Given the description of an element on the screen output the (x, y) to click on. 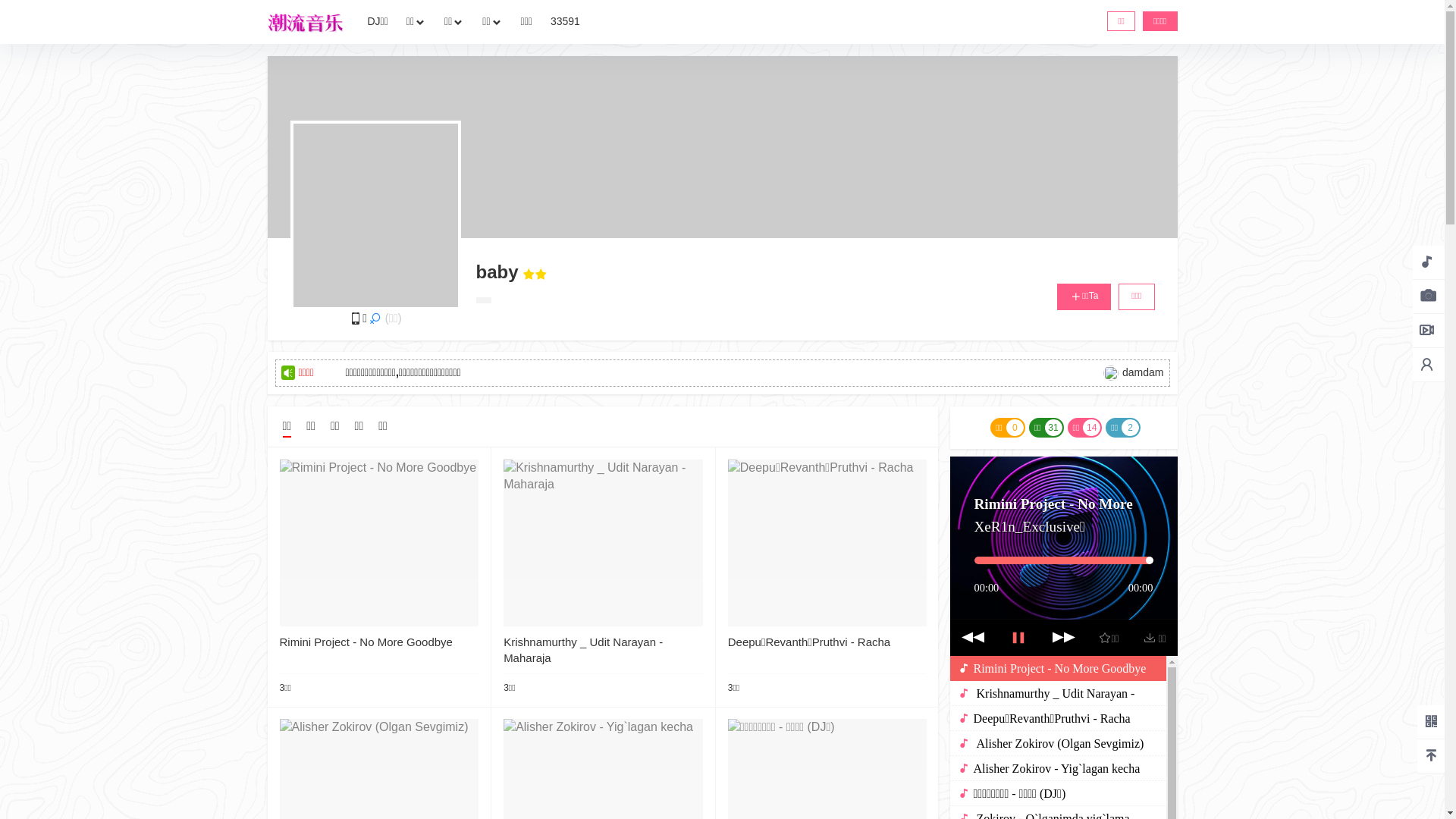
Rimini Project - No More Goodbye Element type: text (365, 641)
Krishnamurthy _ Udit Narayan - Maharaja Element type: text (582, 649)
33591 Element type: text (565, 21)
